Given the description of an element on the screen output the (x, y) to click on. 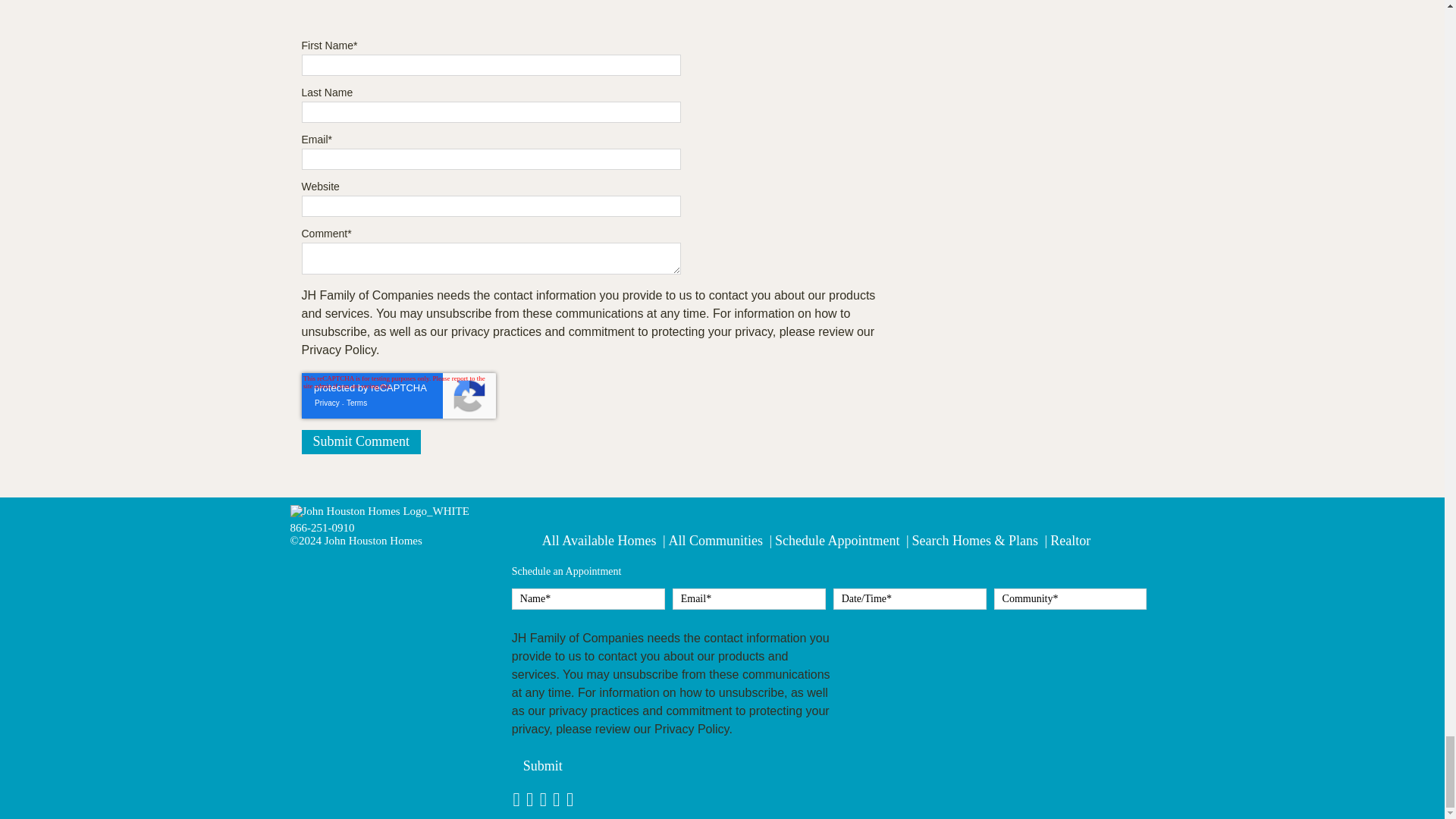
Submit (542, 766)
Submit Comment (361, 441)
reCAPTCHA (398, 395)
